Given the description of an element on the screen output the (x, y) to click on. 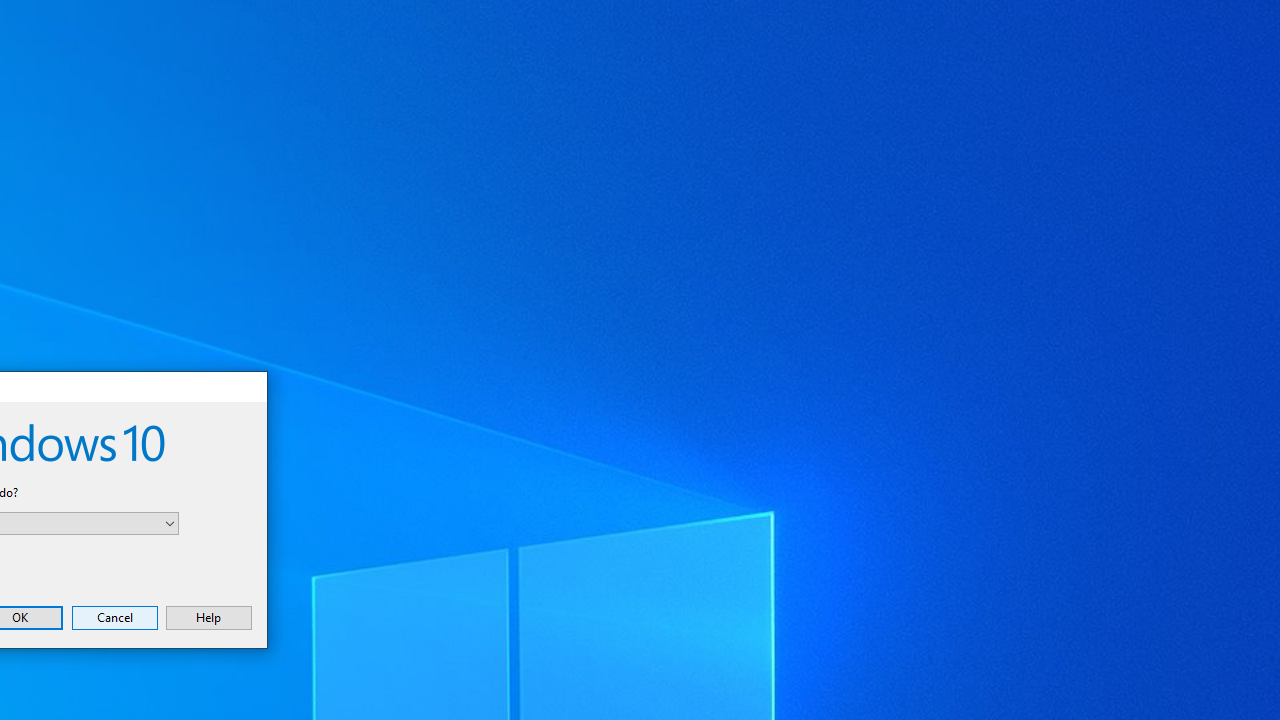
Cancel (114, 617)
